Given the description of an element on the screen output the (x, y) to click on. 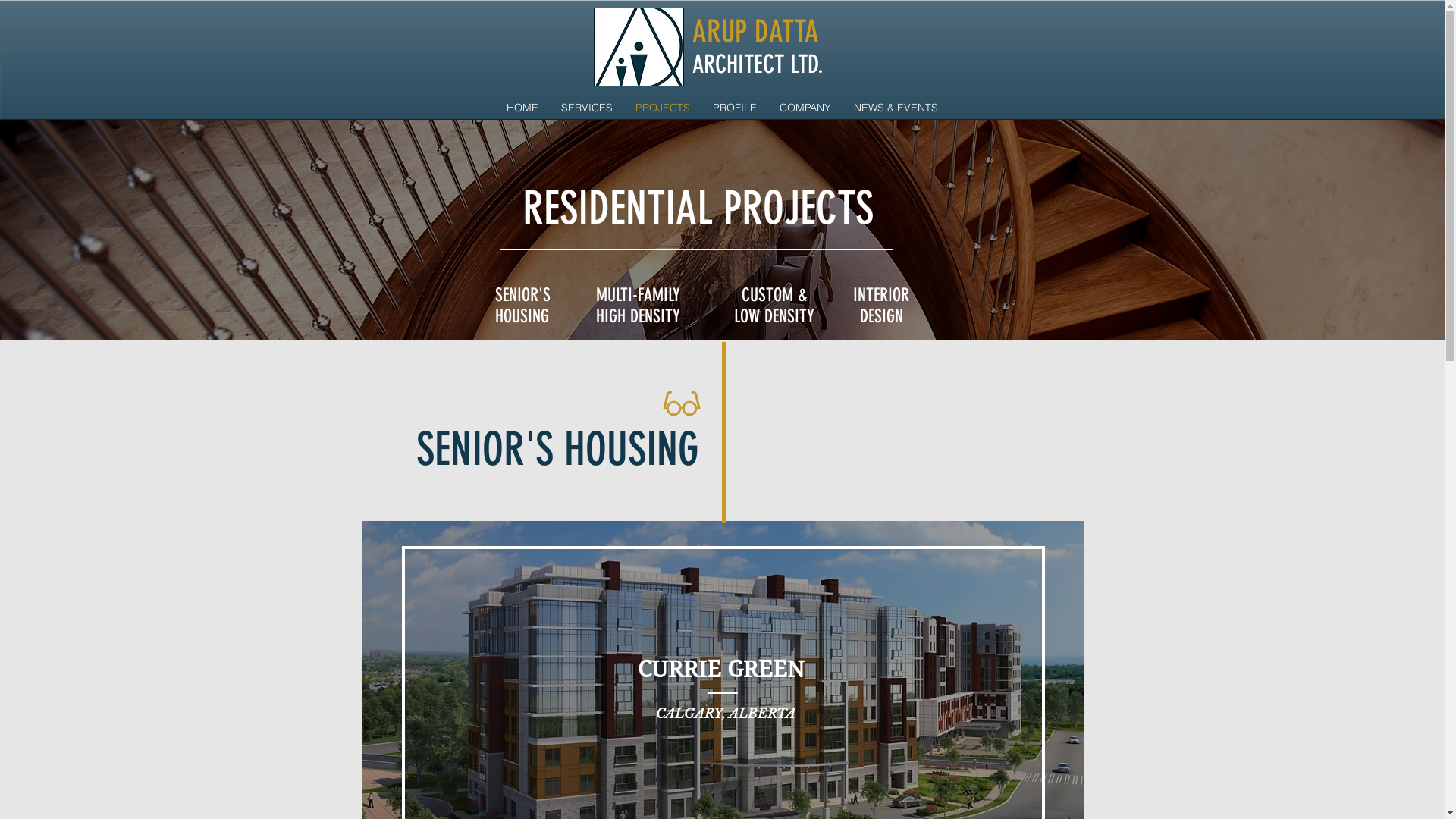
MULTI-FAMILY Element type: text (638, 294)
PROFILE Element type: text (733, 108)
SERVICES Element type: text (586, 108)
HOUSING Element type: text (521, 315)
HIGH DENSITY Element type: text (638, 315)
NEWS & EVENTS Element type: text (894, 108)
DESIGN Element type: text (881, 315)
SENIOR'S Element type: text (521, 294)
HOME Element type: text (521, 108)
CUSTOM & Element type: text (773, 294)
ARUP DATTA Element type: text (754, 32)
RESIDENTIAL PROJECTS Element type: text (696, 208)
PROJECTS Element type: text (661, 108)
ARCHITECT LTD. Element type: text (756, 63)
SENIOR'S HOUSING Element type: text (556, 449)
CURRIE GREEN Element type: text (720, 669)
COMPANY Element type: text (804, 108)
INTERIOR Element type: text (881, 294)
LOW DENSITY Element type: text (774, 315)
